Given the description of an element on the screen output the (x, y) to click on. 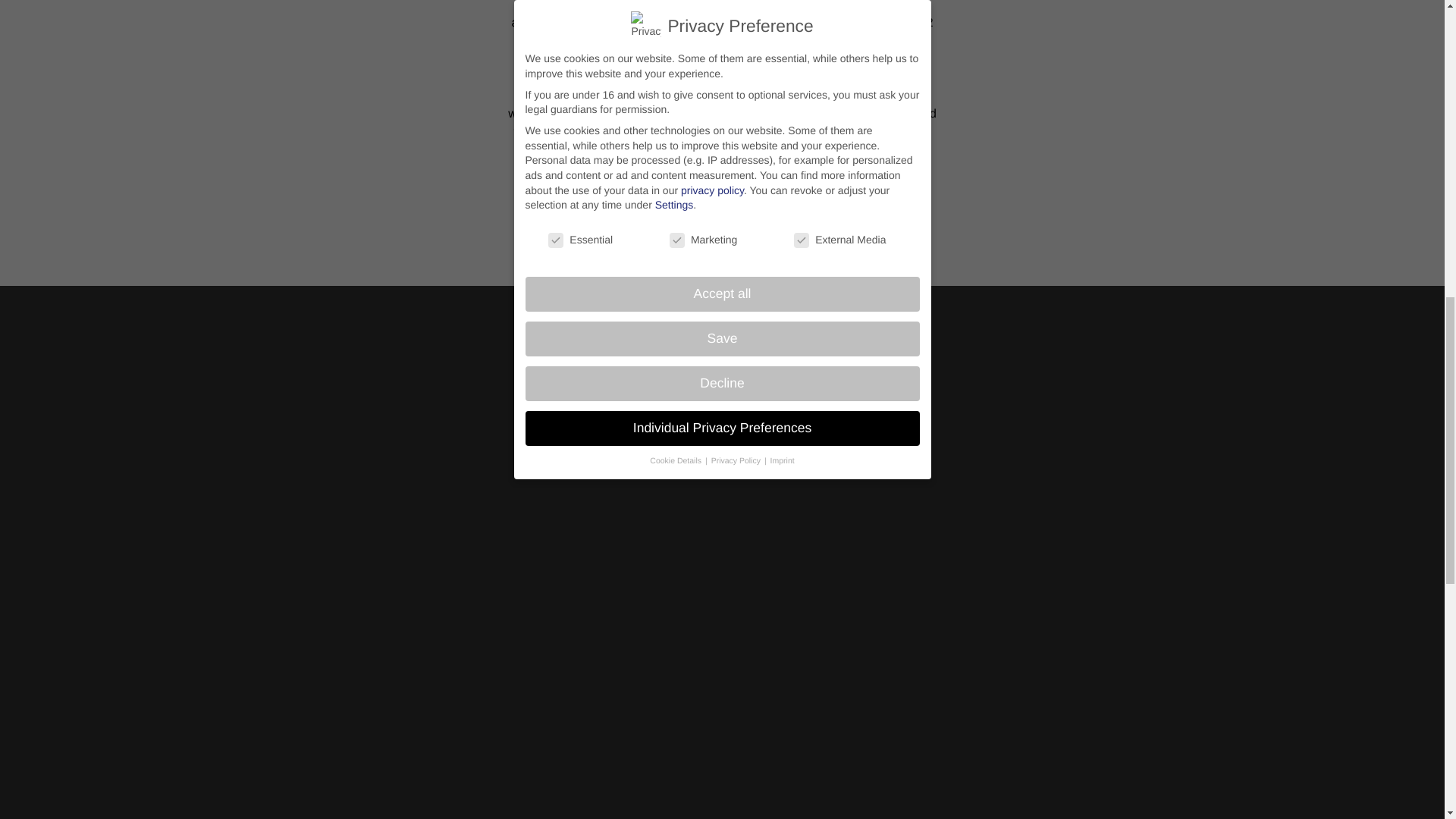
Contact our sales team for details. (721, 203)
